Given the description of an element on the screen output the (x, y) to click on. 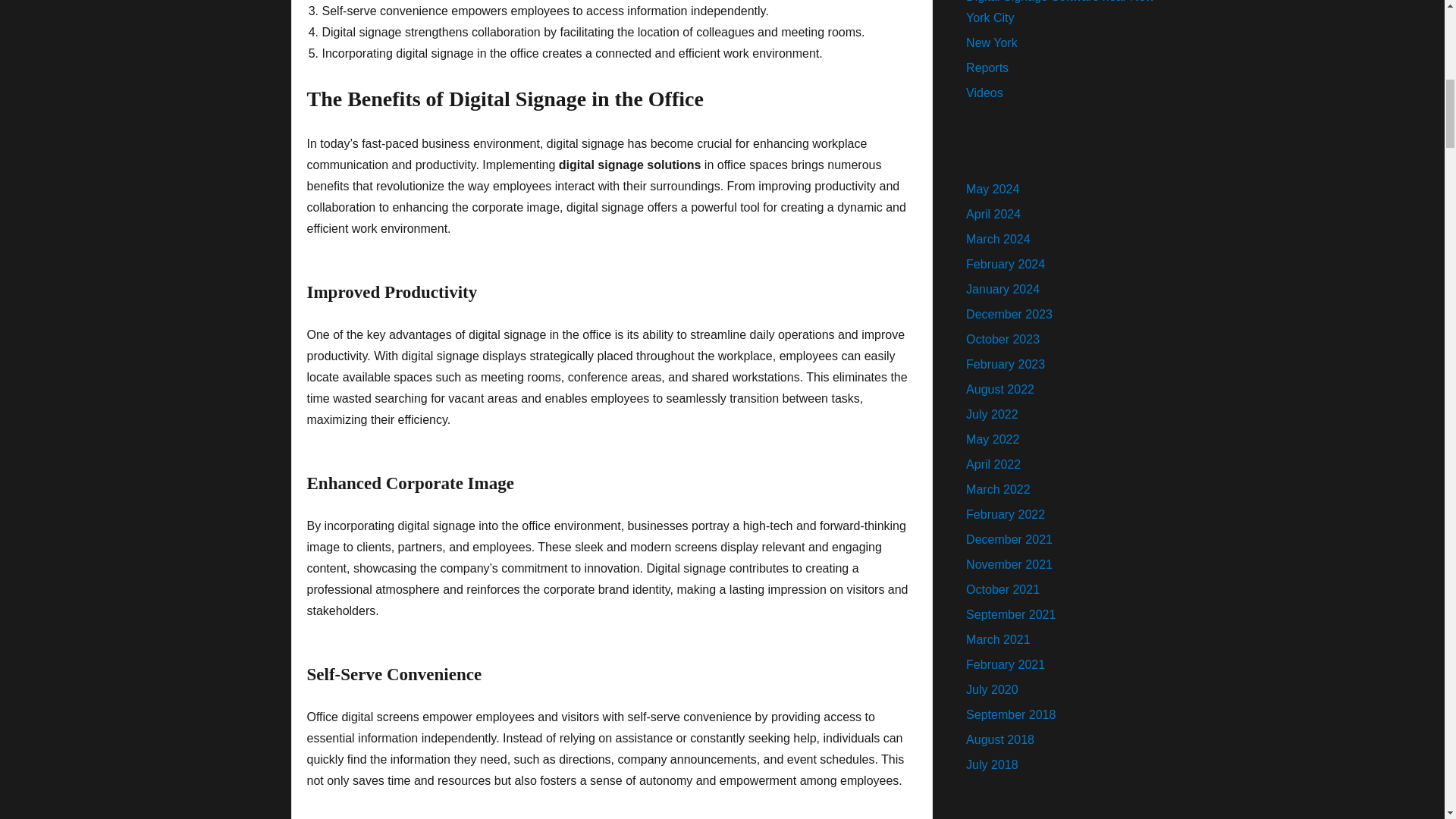
New York (991, 42)
Videos (984, 92)
Digital Signage Software near New York City (1060, 12)
August 2022 (999, 389)
December 2023 (1009, 314)
January 2024 (1002, 288)
February 2023 (1005, 364)
Reports (987, 67)
April 2022 (993, 463)
March 2024 (998, 238)
